Given the description of an element on the screen output the (x, y) to click on. 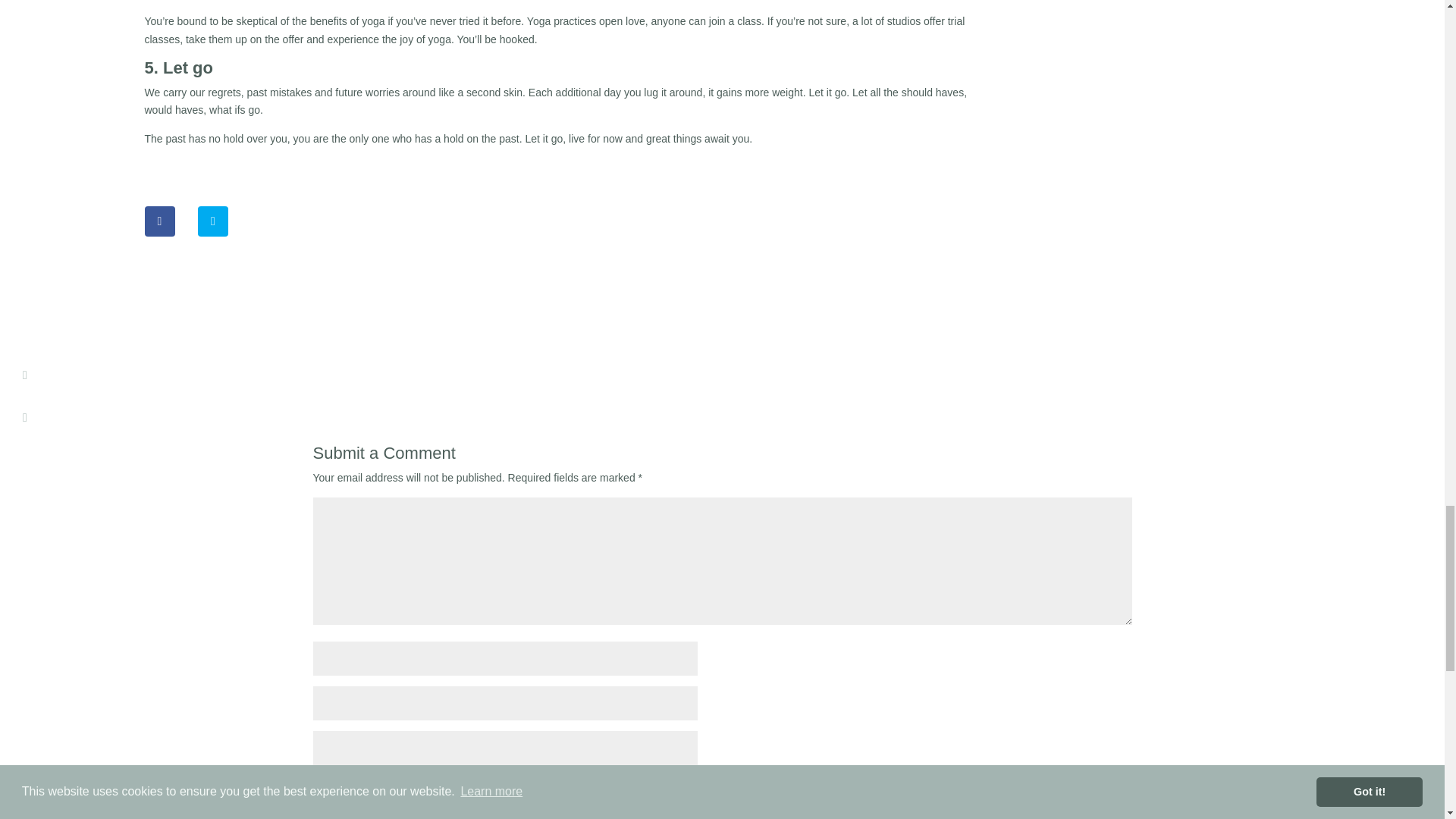
Submit Comment (1056, 794)
